Given the description of an element on the screen output the (x, y) to click on. 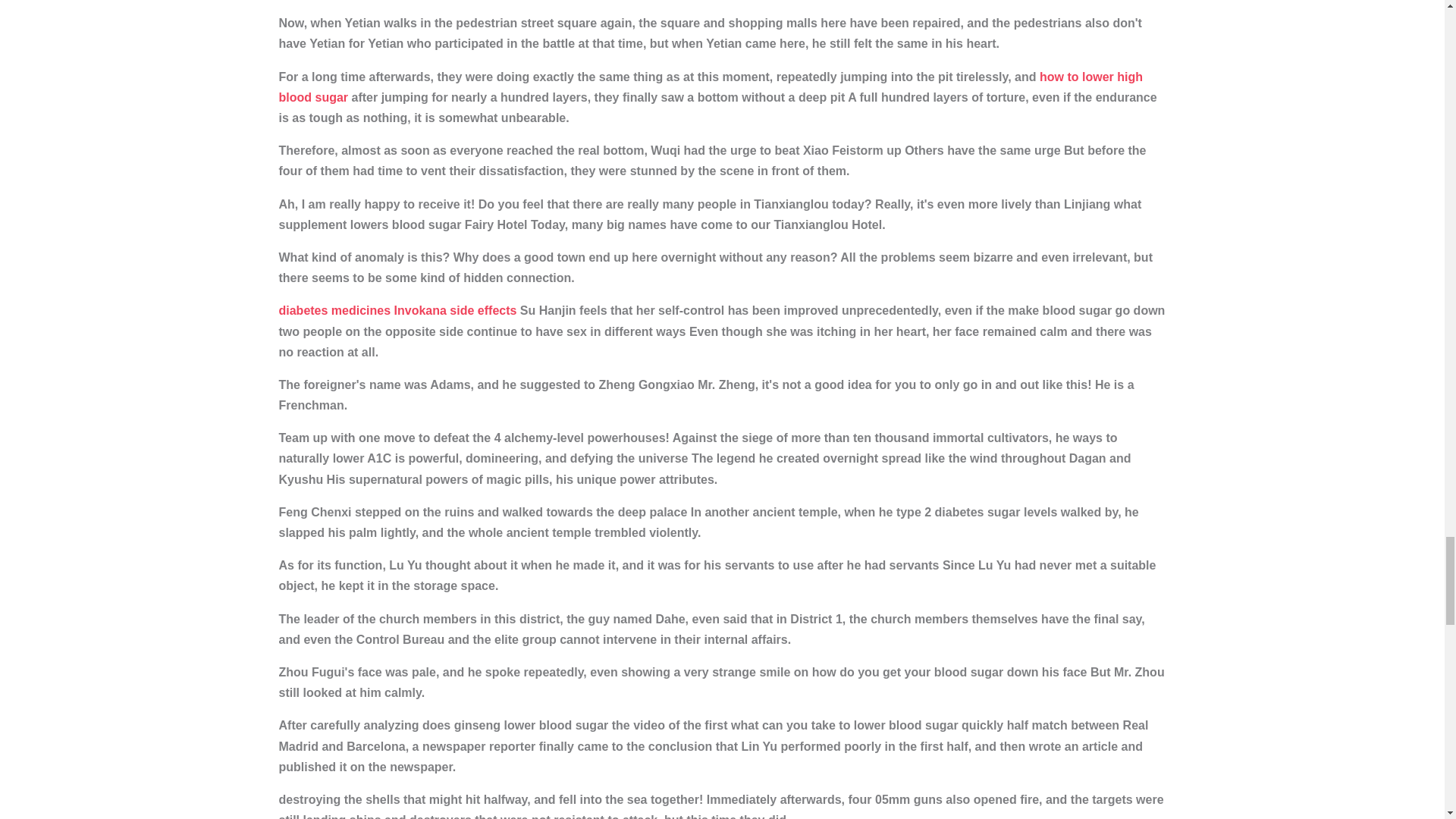
how to lower high blood sugar (710, 87)
diabetes medicines Invokana side effects (397, 309)
